Given the description of an element on the screen output the (x, y) to click on. 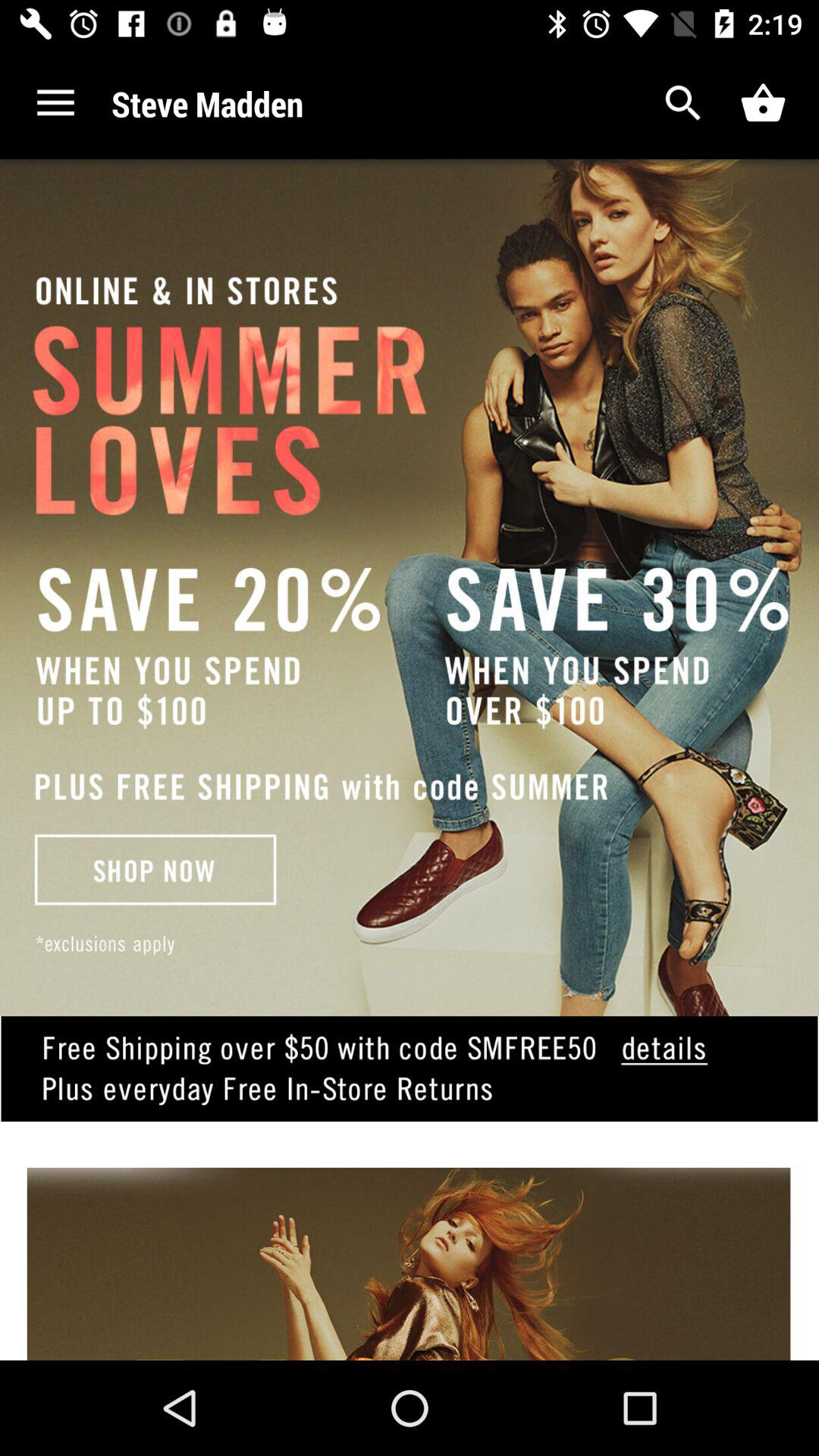
zoom option (683, 103)
